Given the description of an element on the screen output the (x, y) to click on. 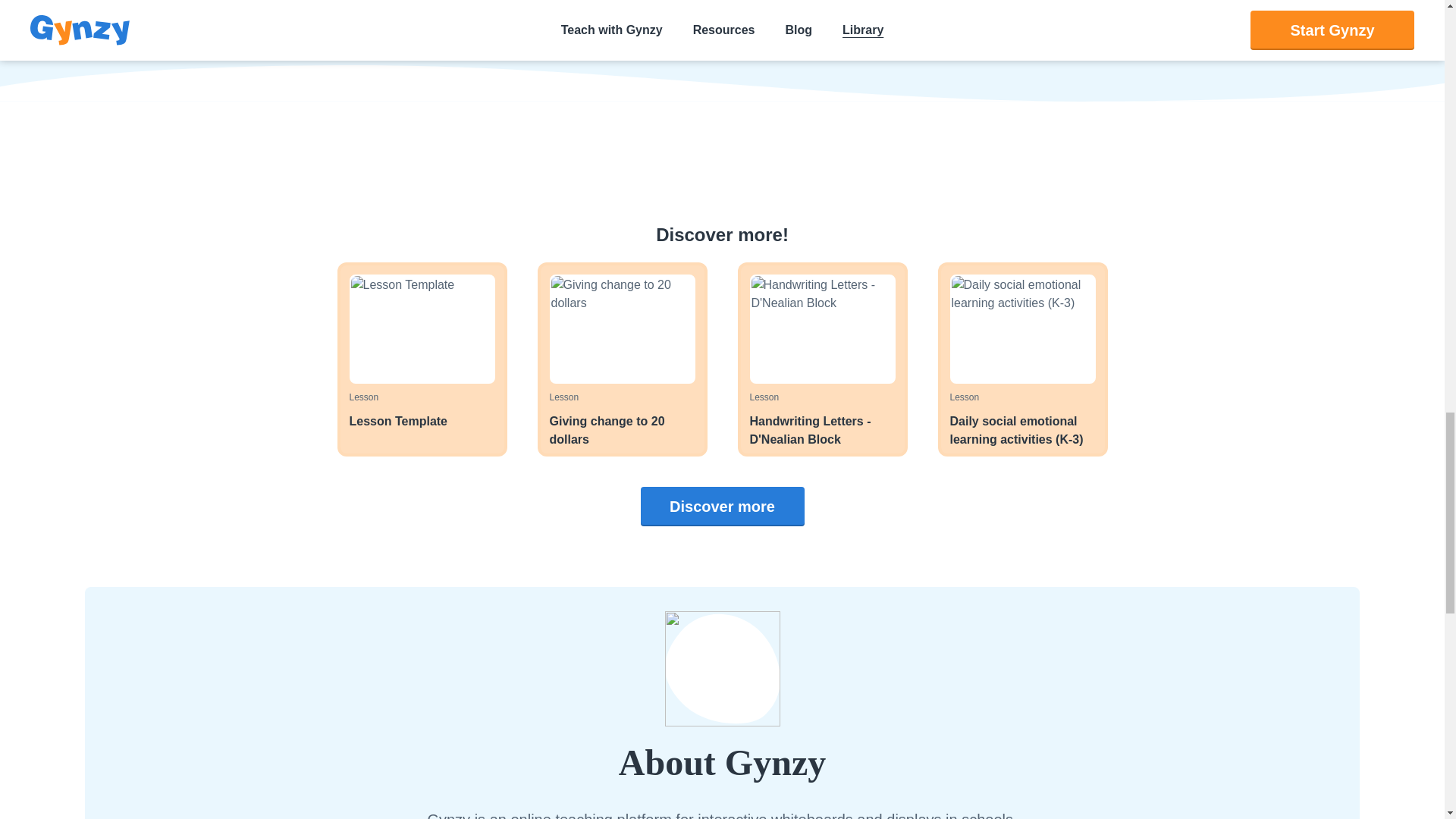
Discover more (721, 506)
